Given the description of an element on the screen output the (x, y) to click on. 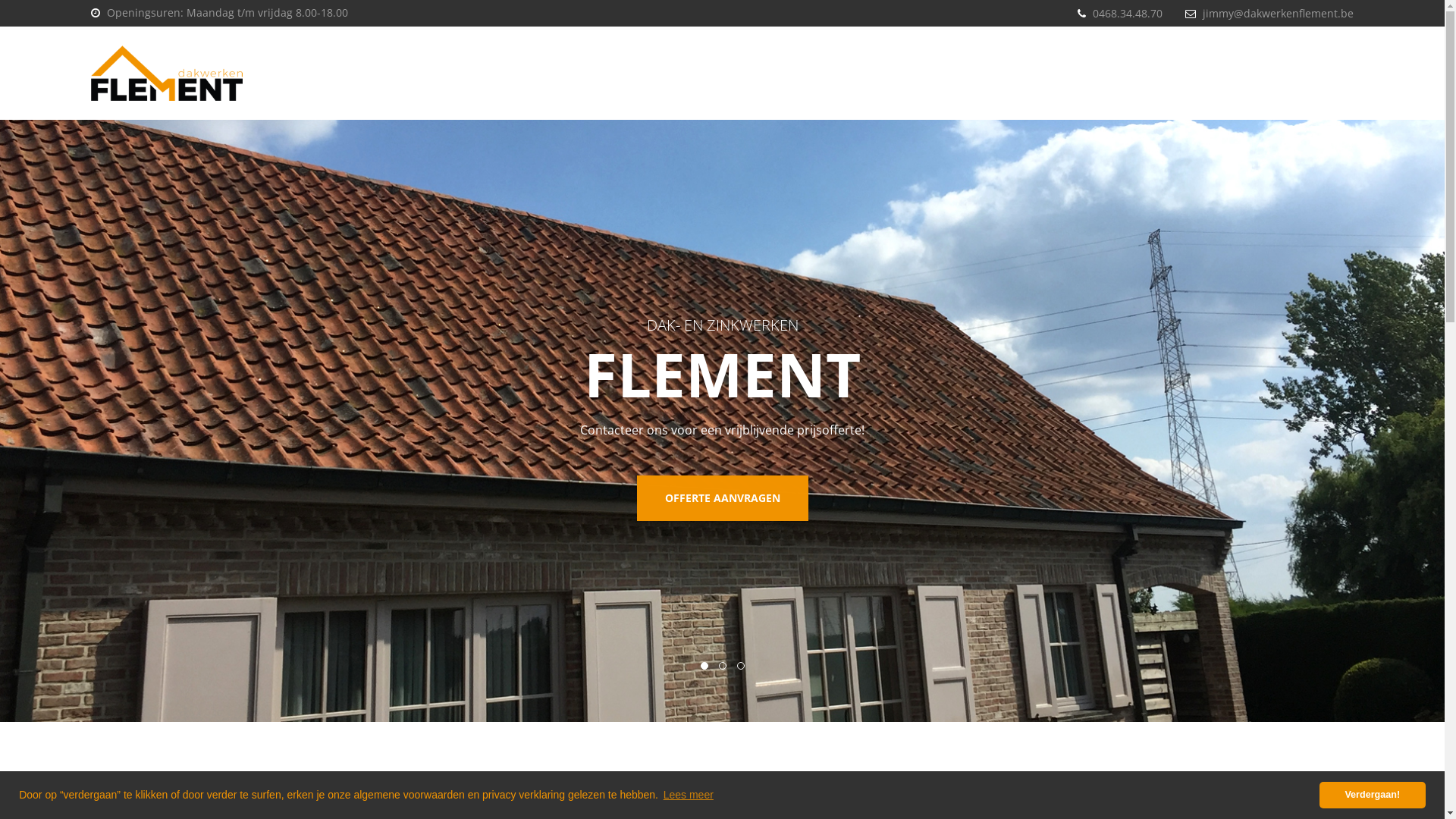
Lees meer Element type: text (688, 794)
Verdergaan! Element type: text (1372, 794)
jimmy@dakwerkenflement.be Element type: text (1277, 13)
OFFERTE AANVRAGEN Element type: text (722, 497)
02 Element type: text (722, 665)
01 Element type: text (704, 665)
03 Element type: text (740, 665)
